Given the description of an element on the screen output the (x, y) to click on. 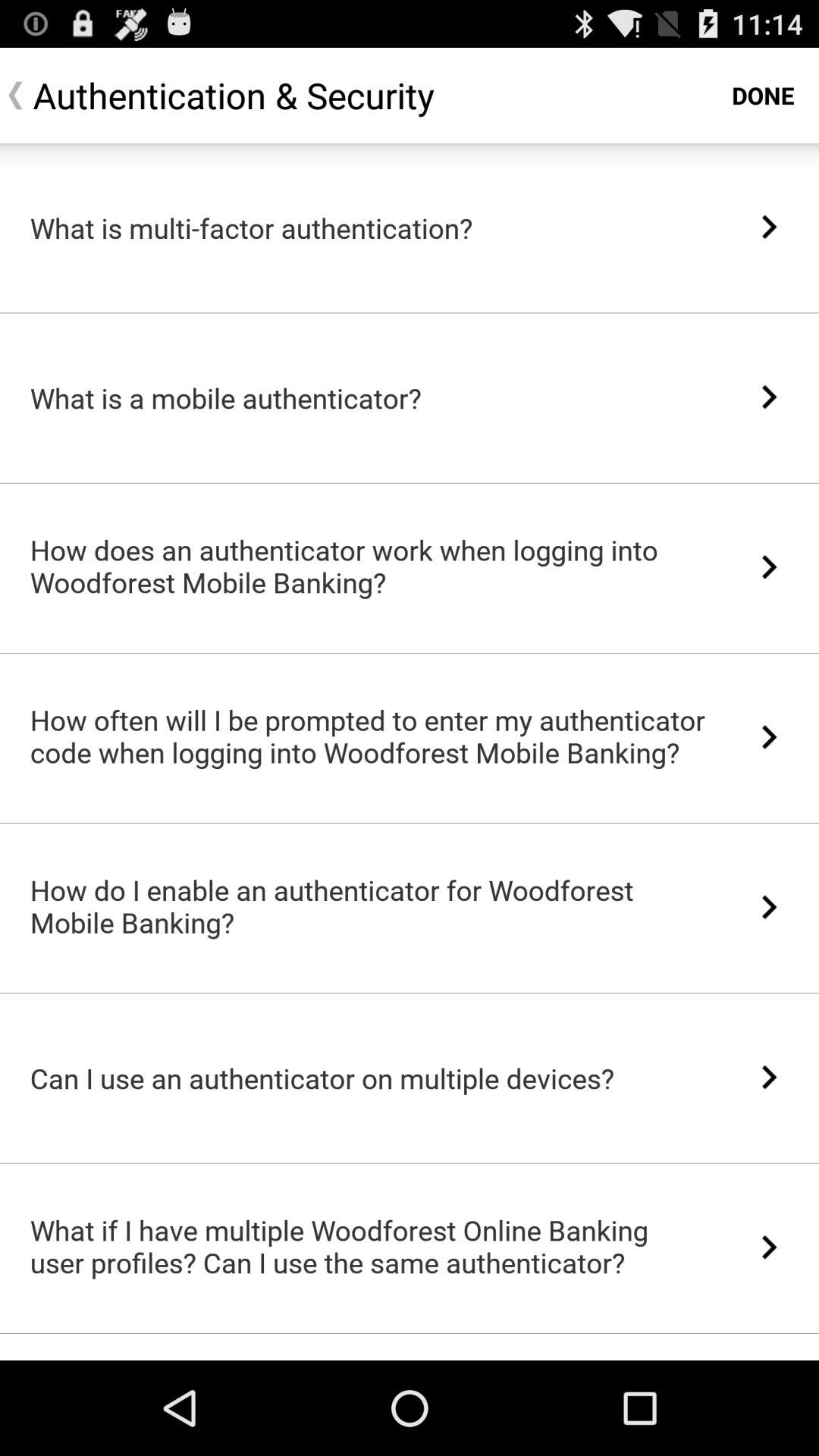
jump until the how often will (368, 736)
